Given the description of an element on the screen output the (x, y) to click on. 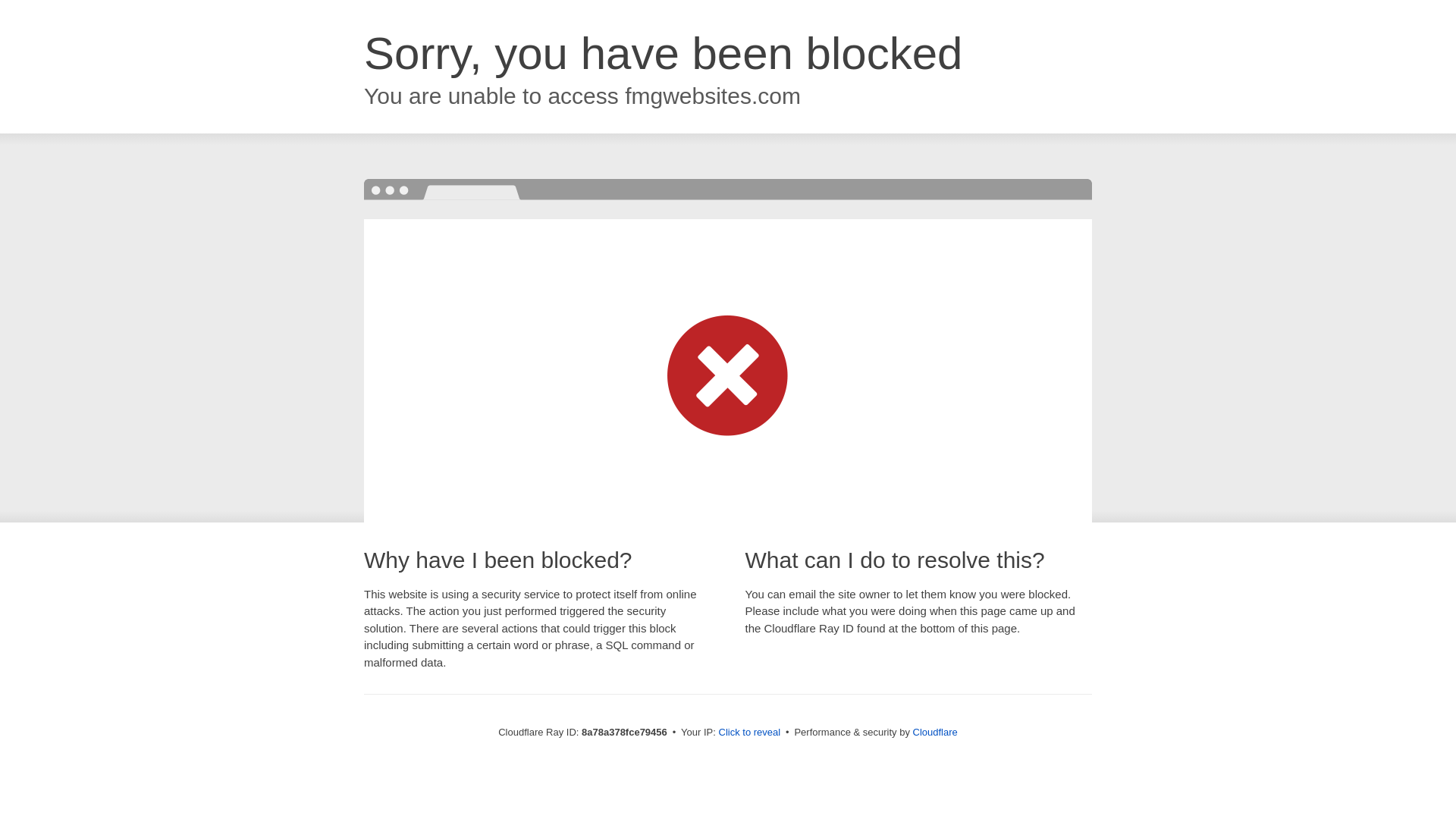
Cloudflare (935, 731)
Click to reveal (749, 732)
